Given the description of an element on the screen output the (x, y) to click on. 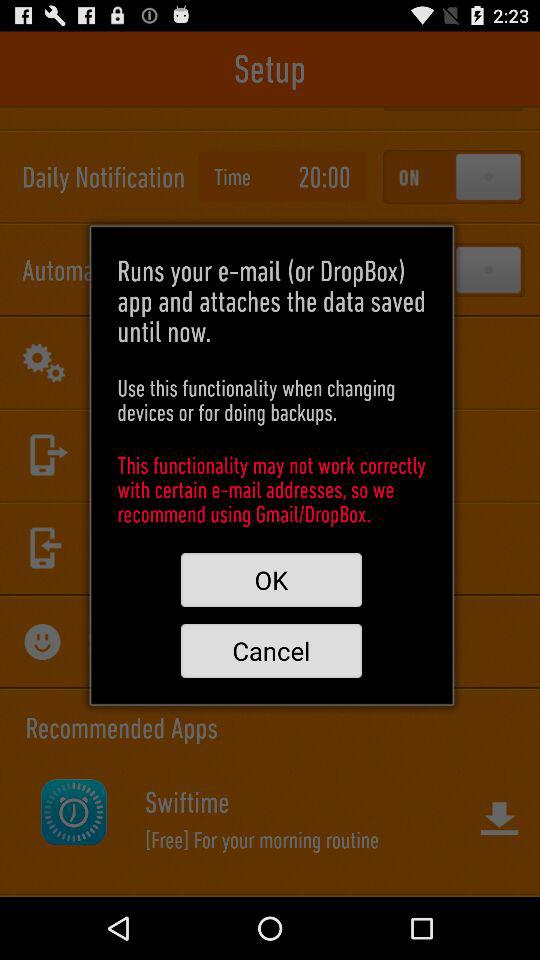
turn off icon below ok button (271, 650)
